Given the description of an element on the screen output the (x, y) to click on. 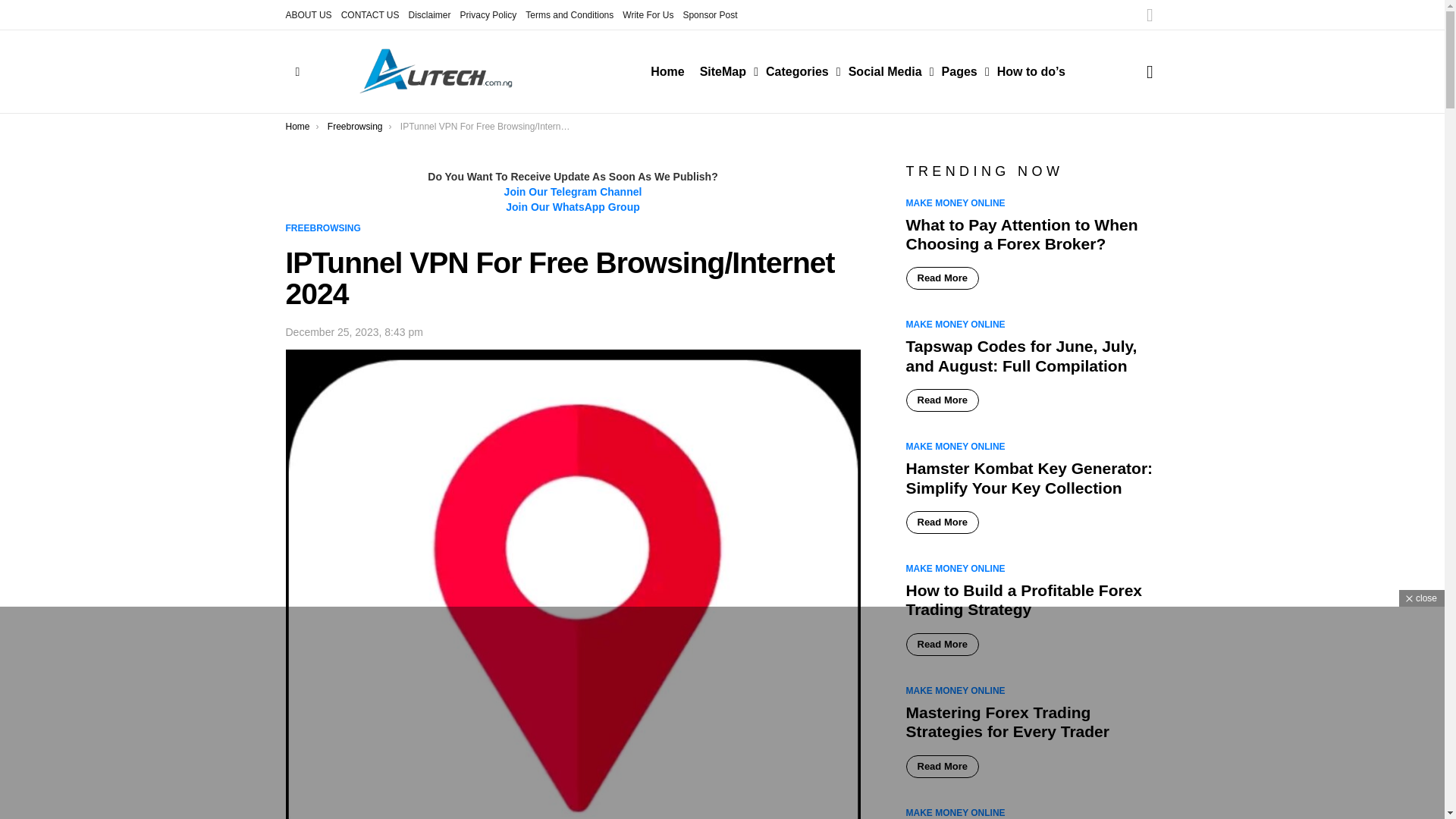
Write For Us (647, 15)
SiteMap (725, 71)
Pages (962, 71)
CONTACT US (369, 15)
Privacy Policy (488, 15)
Social Media (887, 71)
ABOUT US (308, 15)
Terms and Conditions (568, 15)
Sponsor Post (709, 15)
Categories (799, 71)
